Given the description of an element on the screen output the (x, y) to click on. 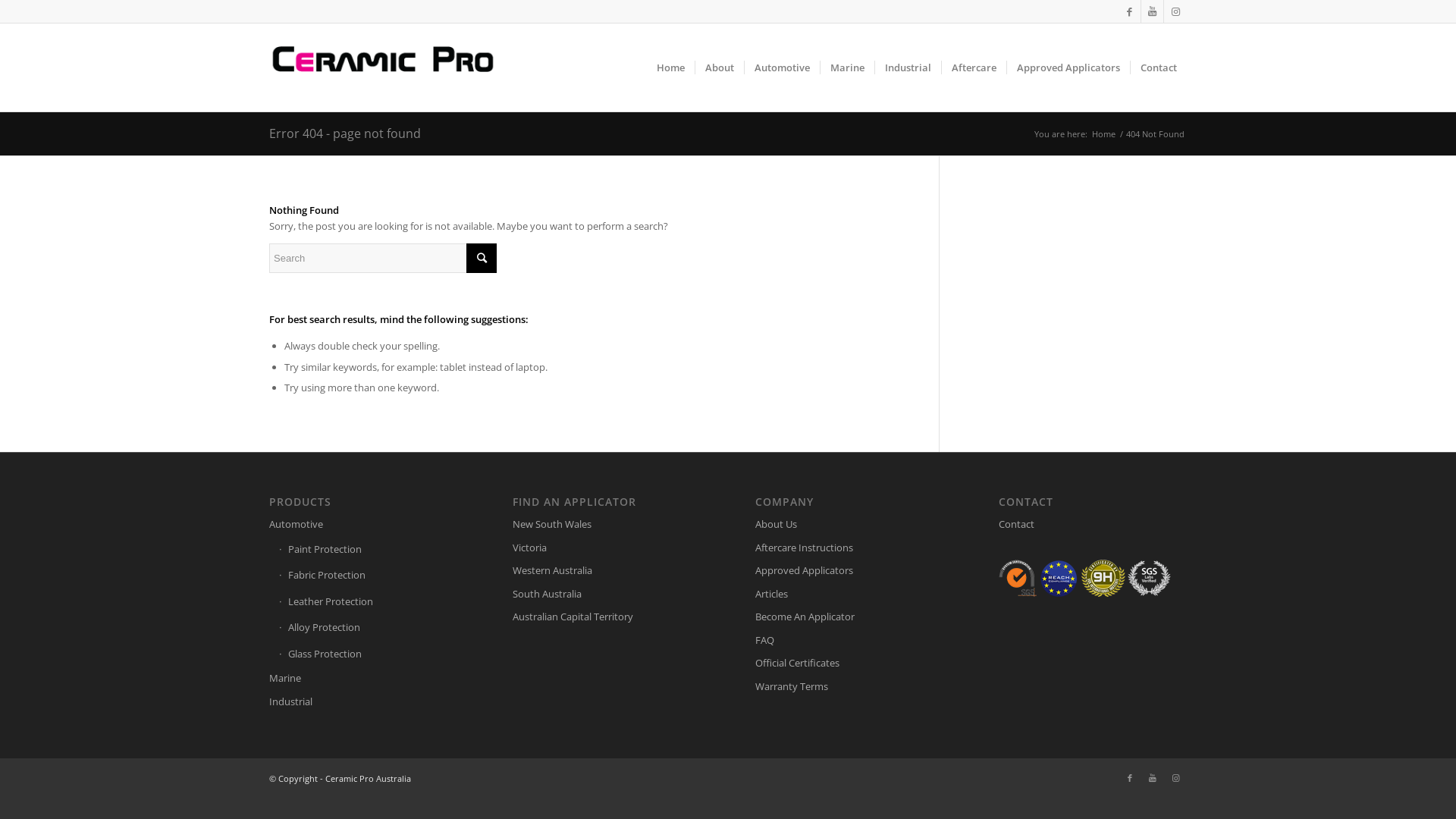
Paint Protection Element type: text (368, 549)
About Element type: text (718, 67)
Fabric Protection Element type: text (368, 575)
Marine Element type: text (363, 678)
Contact Element type: text (1157, 67)
Youtube Element type: hover (1152, 11)
Facebook Element type: hover (1129, 777)
Warranty Terms Element type: text (849, 686)
Facebook Element type: hover (1129, 11)
South Australia Element type: text (606, 594)
New South Wales Element type: text (606, 524)
Australian Capital Territory Element type: text (606, 616)
Youtube Element type: hover (1152, 777)
Automotive Element type: text (363, 524)
Western Australia Element type: text (606, 570)
Home Element type: text (1103, 133)
Error 404 - page not found Element type: text (344, 133)
Leather Protection Element type: text (368, 602)
Industrial Element type: text (363, 701)
FAQ Element type: text (849, 640)
Industrial Element type: text (907, 67)
Instagram Element type: hover (1175, 11)
Marine Element type: text (846, 67)
Official Certificates Element type: text (849, 663)
Glass Protection Element type: text (368, 654)
Victoria Element type: text (606, 547)
Articles Element type: text (849, 594)
Aftercare Element type: text (973, 67)
Instagram Element type: hover (1175, 777)
Approved Applicators Element type: text (1067, 67)
Aftercare Instructions Element type: text (849, 547)
Become An Applicator Element type: text (849, 616)
Approved Applicators Element type: text (849, 570)
About Us Element type: text (849, 524)
Automotive Element type: text (781, 67)
Home Element type: text (670, 67)
Contact Element type: text (1092, 524)
Alloy Protection Element type: text (368, 627)
